Given the description of an element on the screen output the (x, y) to click on. 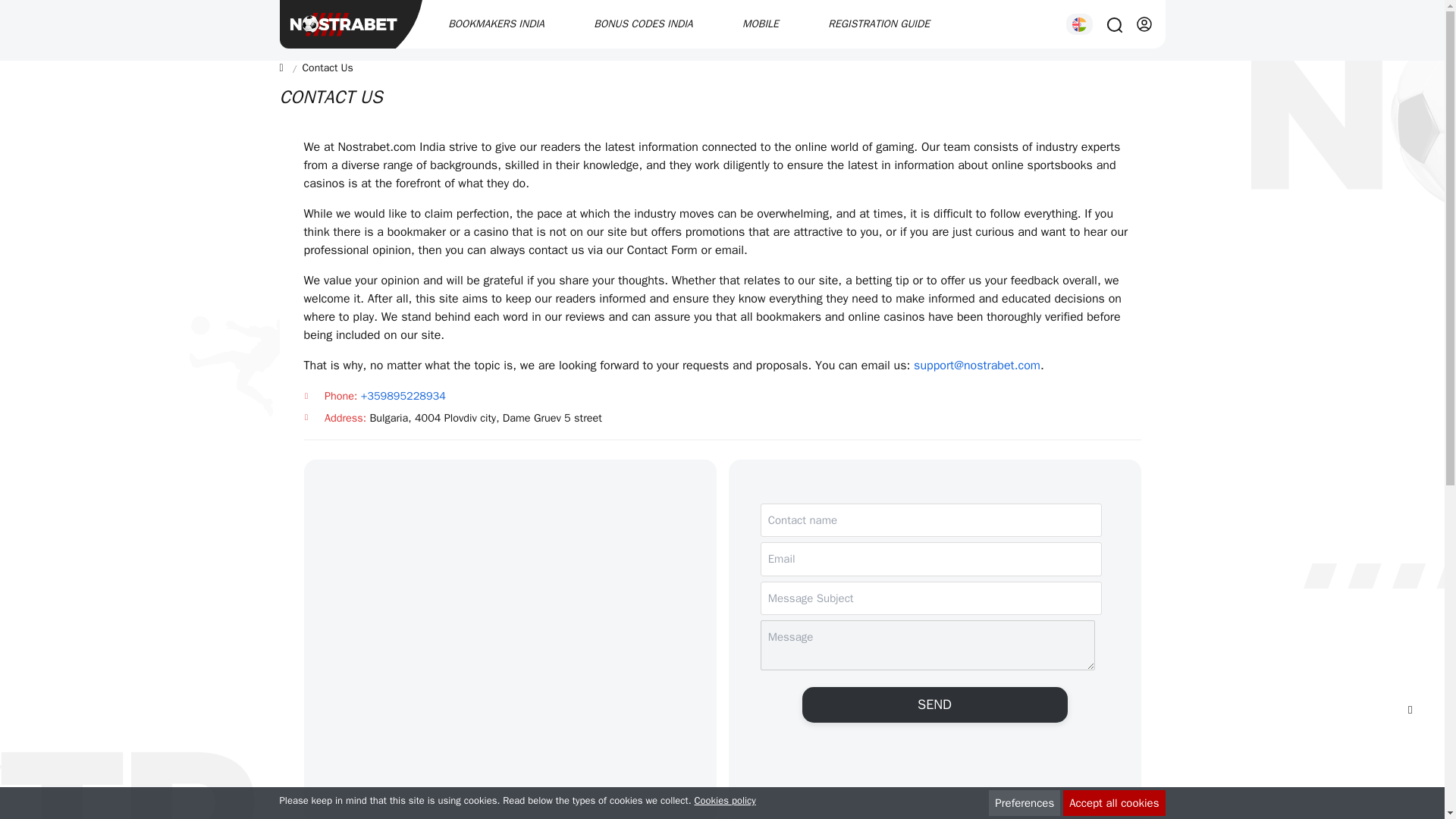
MOBILE (760, 24)
BOOKMAKERS INDIA (496, 24)
BONUS CODES INDIA (643, 24)
SEND (934, 704)
REGISTRATION GUIDE (879, 24)
